Given the description of an element on the screen output the (x, y) to click on. 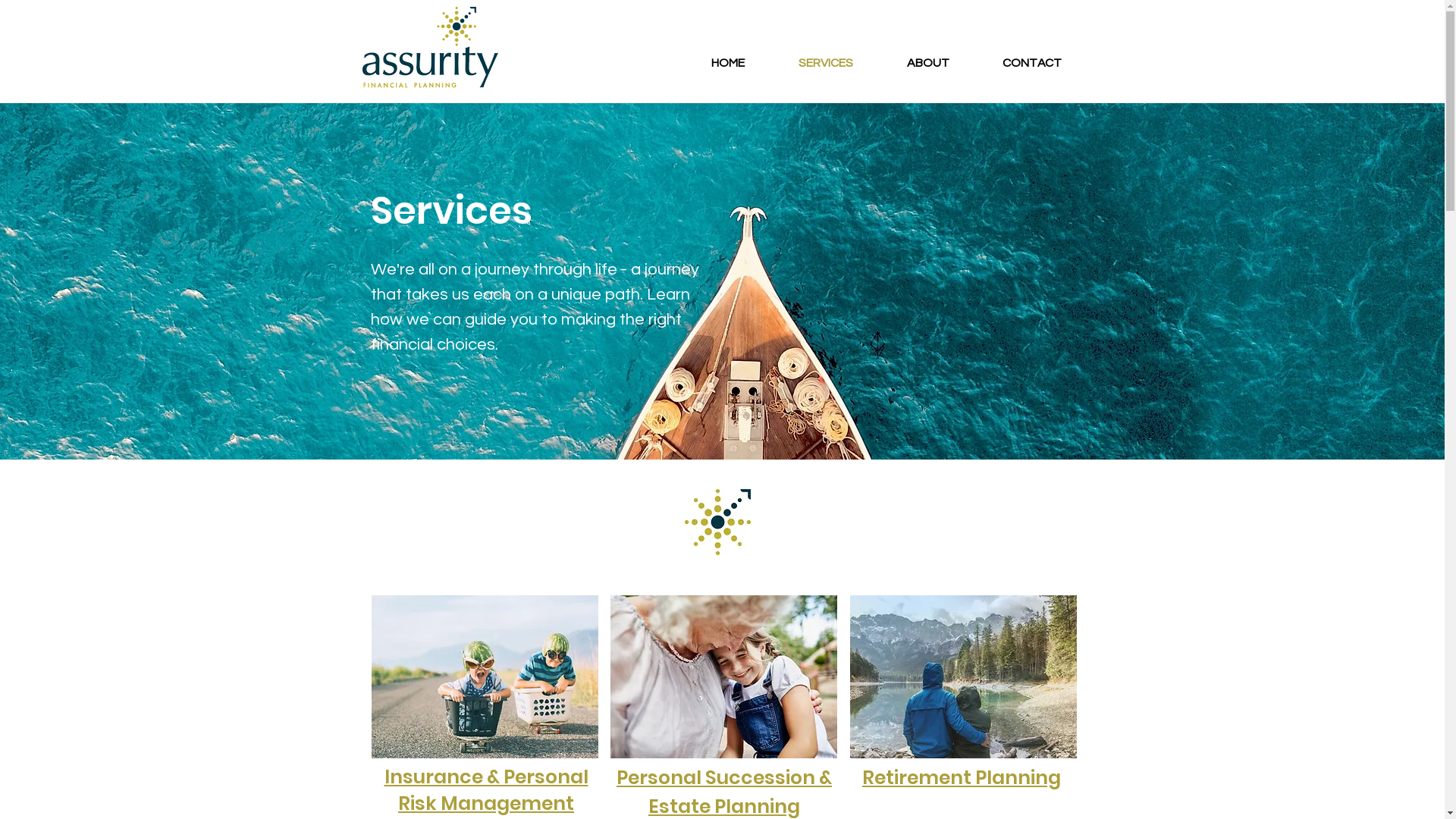
ABOUT Element type: text (927, 62)
Retirement Planning Element type: text (961, 777)
Services Element type: text (450, 210)
HOME Element type: text (727, 62)
SERVICES Element type: text (825, 62)
CONTACT Element type: text (1031, 62)
Insurance & Personal Risk Management Element type: text (485, 789)
